Given the description of an element on the screen output the (x, y) to click on. 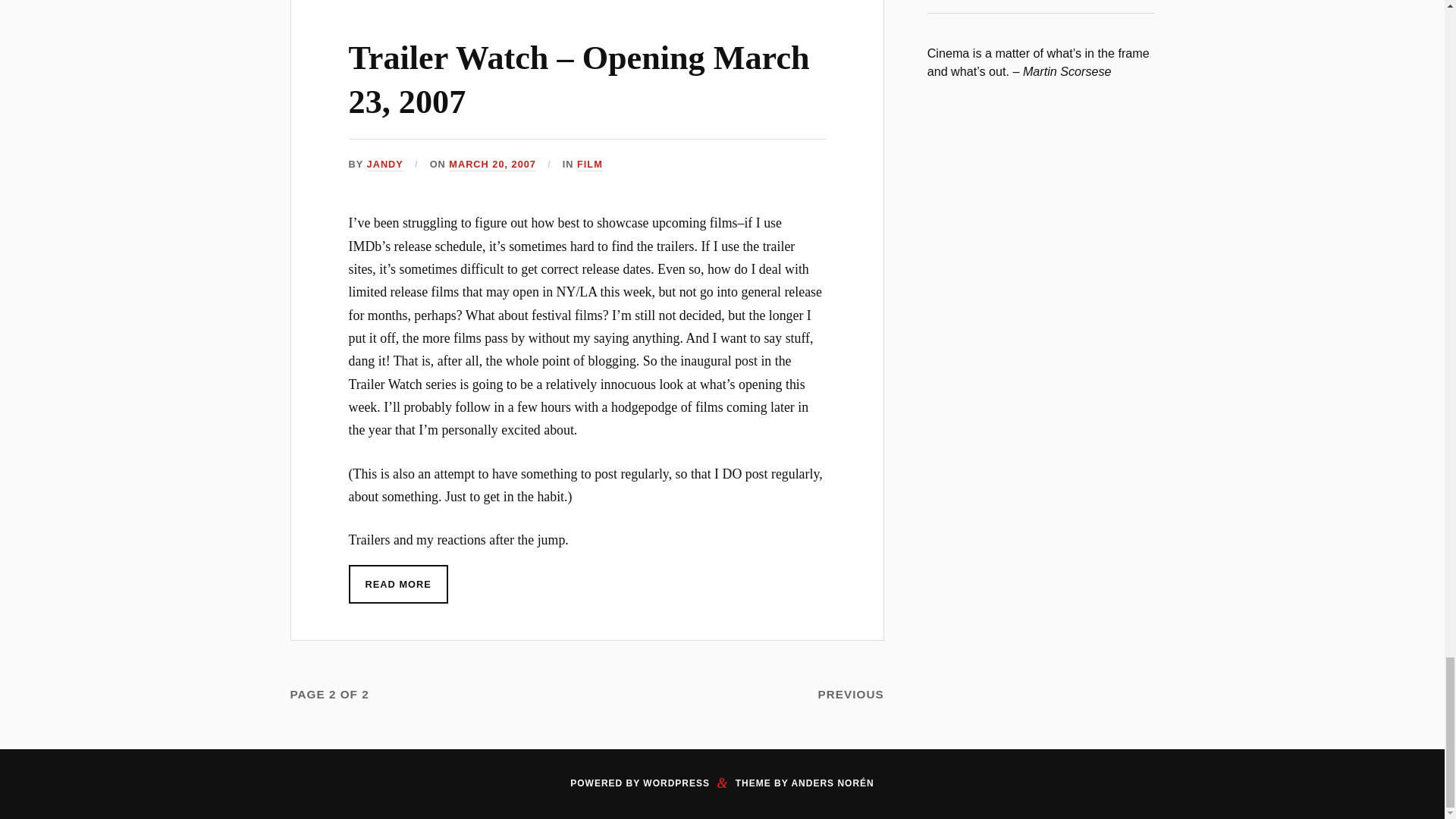
Posts by Jandy (384, 164)
